Given the description of an element on the screen output the (x, y) to click on. 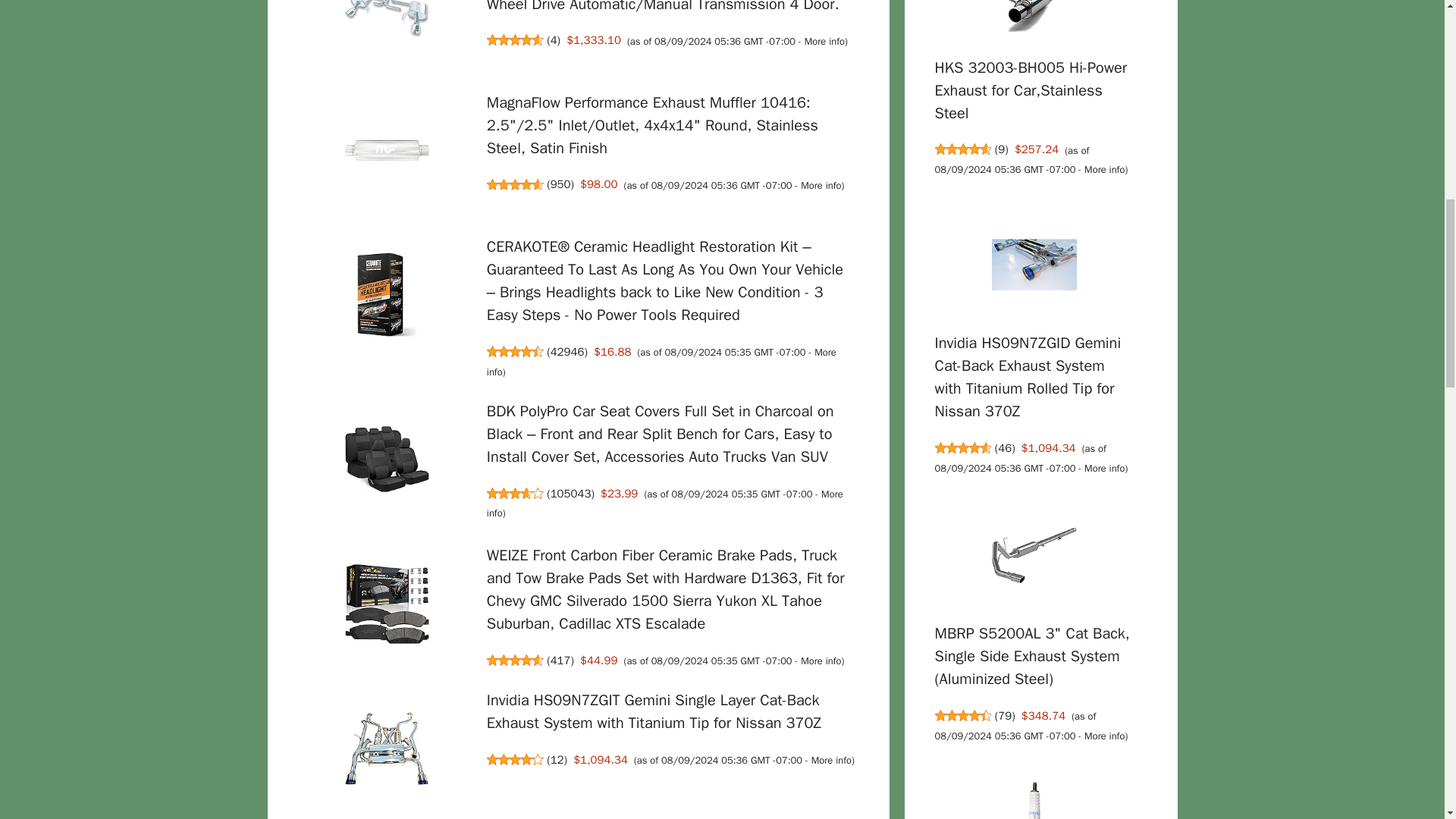
More info (820, 185)
417 (560, 660)
950 (560, 183)
More info (820, 661)
42946 (567, 351)
